Given the description of an element on the screen output the (x, y) to click on. 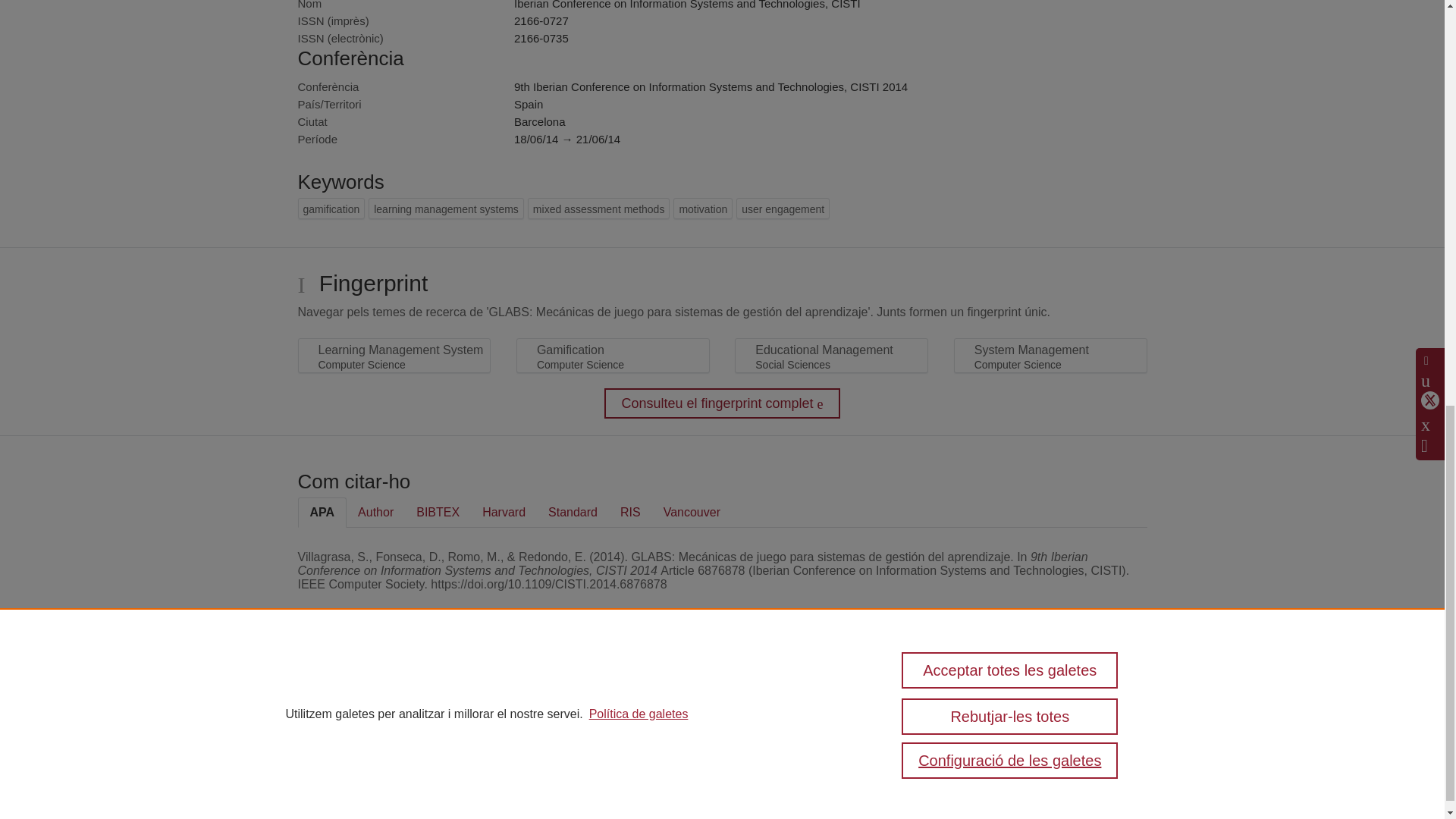
Elsevier B.V. (534, 710)
Scopus (396, 690)
Pure (365, 690)
Consulteu el fingerprint complet (722, 403)
